Given the description of an element on the screen output the (x, y) to click on. 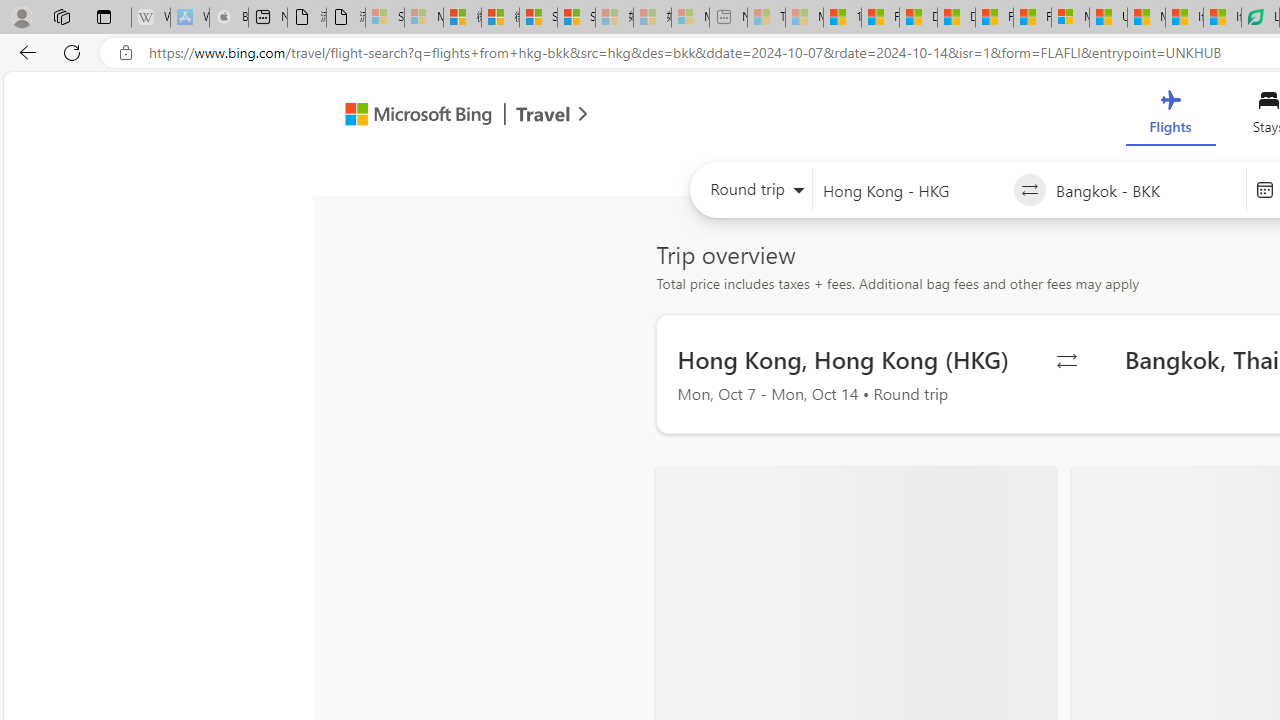
Class: msft-bing-logo msft-bing-logo-desktop (413, 114)
Class: autosuggest-container full-height no-y-padding (1145, 190)
Food and Drink - MSN (879, 17)
Wikipedia - Sleeping (150, 17)
New tab - Sleeping (728, 17)
Leaving from? (912, 190)
Foo BAR | Trusted Community Engagement and Contributions (1031, 17)
Microsoft Bing (410, 116)
